Given the description of an element on the screen output the (x, y) to click on. 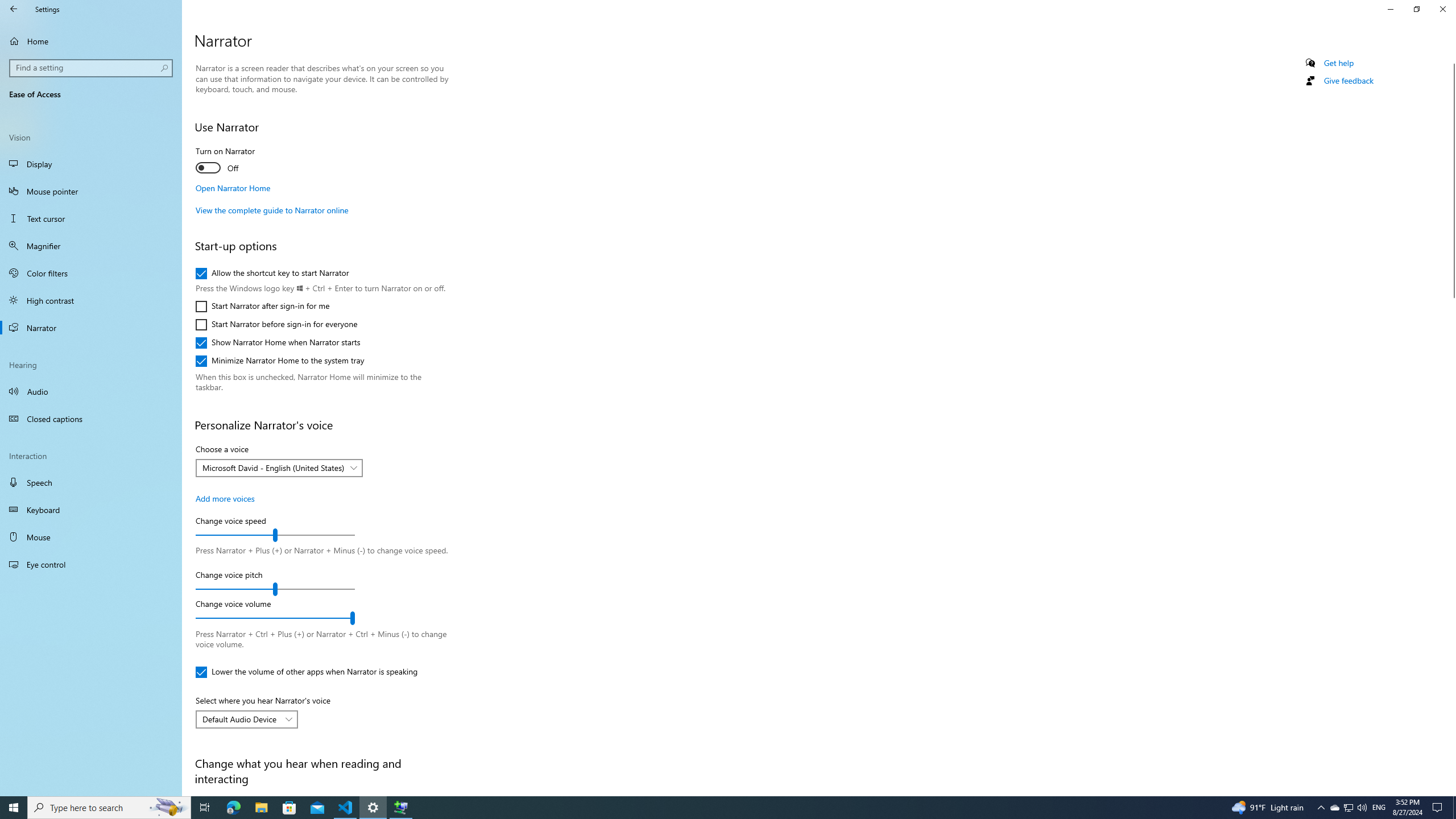
Notification Chevron (1320, 807)
Microsoft Store (289, 807)
Search box, Find a setting (91, 67)
Minimize Settings (1390, 9)
